Given the description of an element on the screen output the (x, y) to click on. 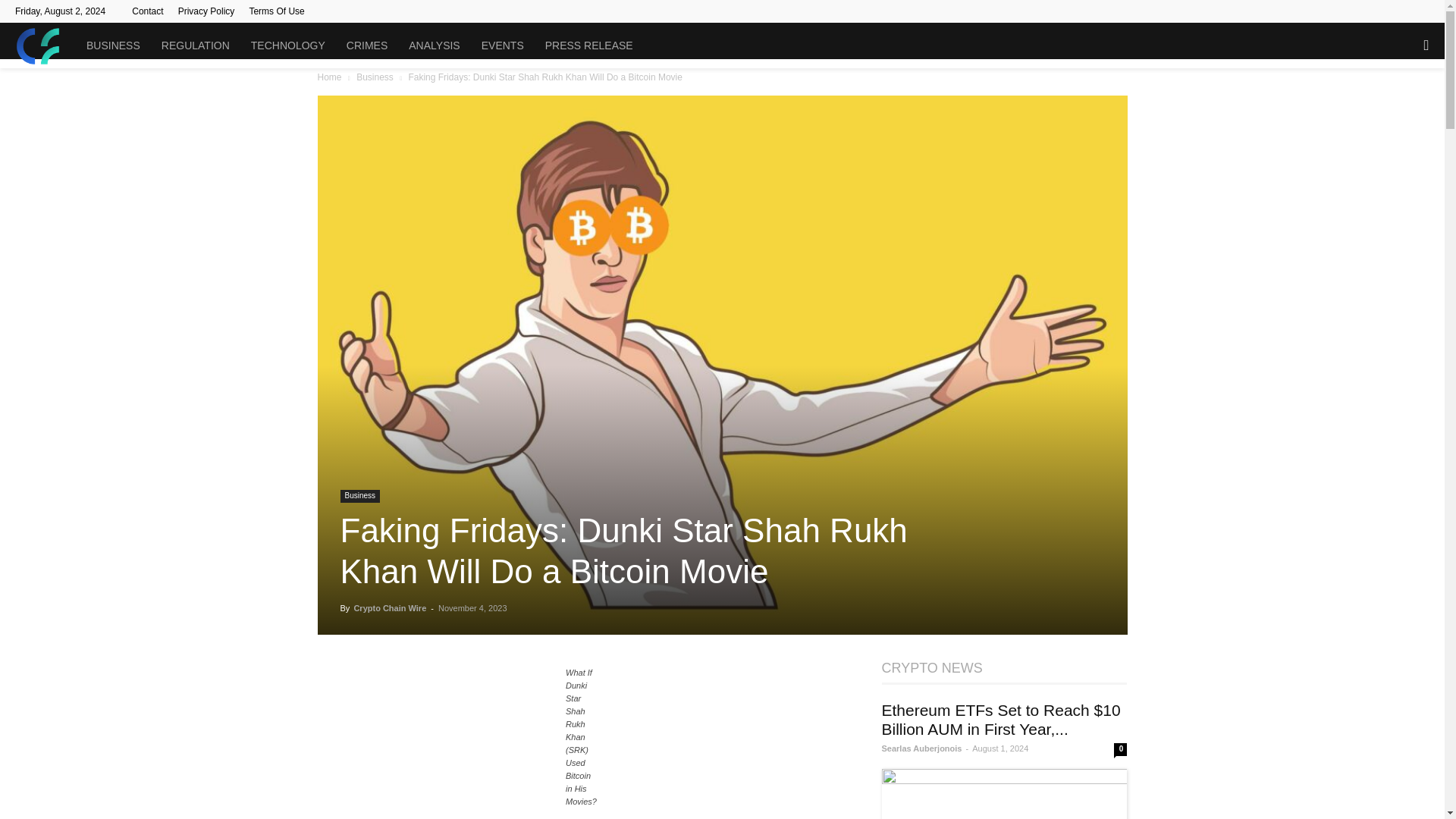
View all posts in Business (374, 77)
Business (359, 495)
Contact (147, 10)
Privacy Policy (205, 10)
TheCryptoFintech (44, 45)
PRESS RELEASE (588, 44)
Search (1395, 110)
BUSINESS (113, 44)
Crypto Chain Wire (389, 607)
